Given the description of an element on the screen output the (x, y) to click on. 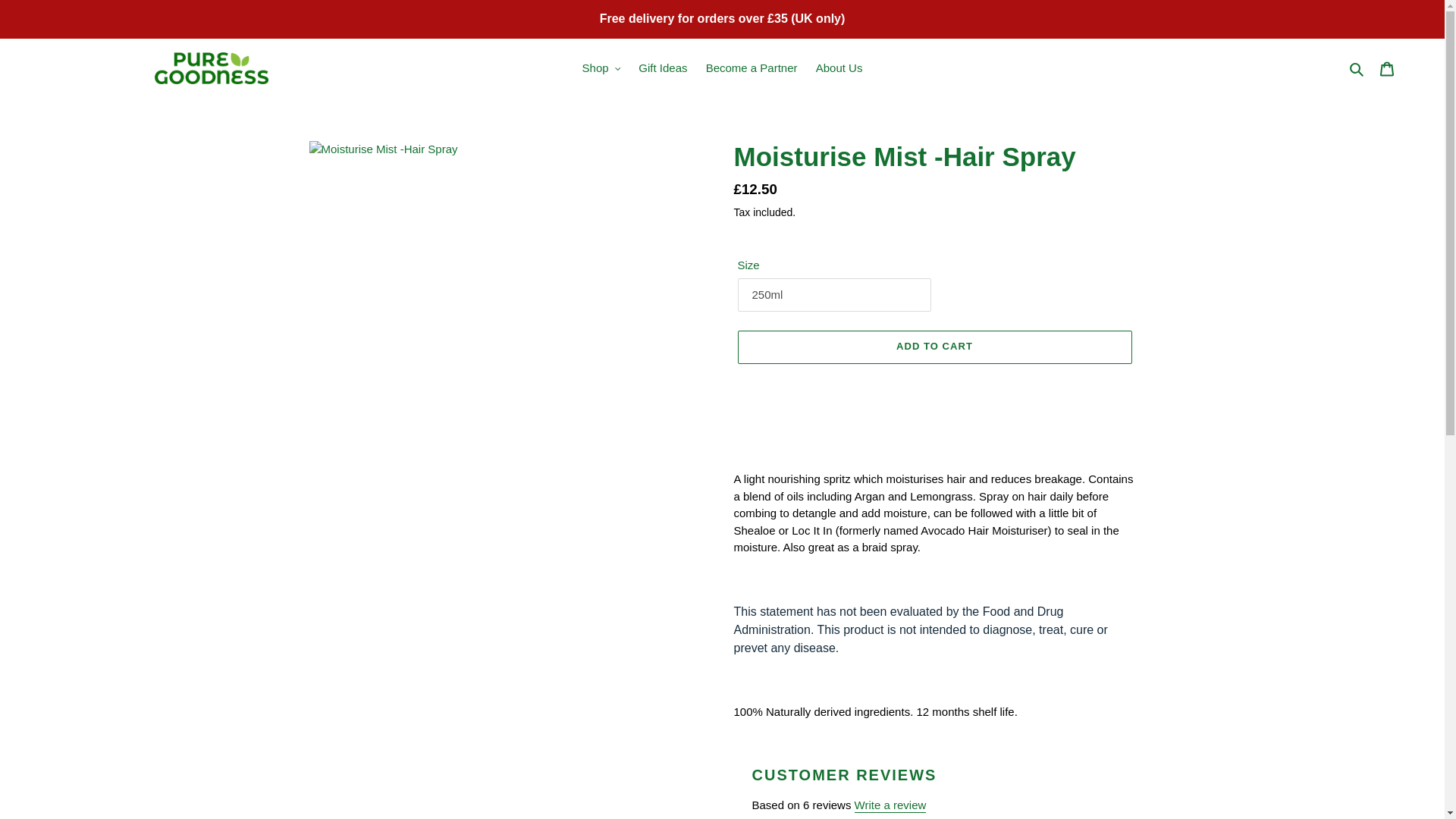
Cart (1387, 68)
About Us (839, 68)
Search (1357, 67)
ADD TO CART (933, 346)
Shop (601, 68)
Gift Ideas (662, 68)
Write a review (890, 805)
Become a Partner (751, 68)
